Given the description of an element on the screen output the (x, y) to click on. 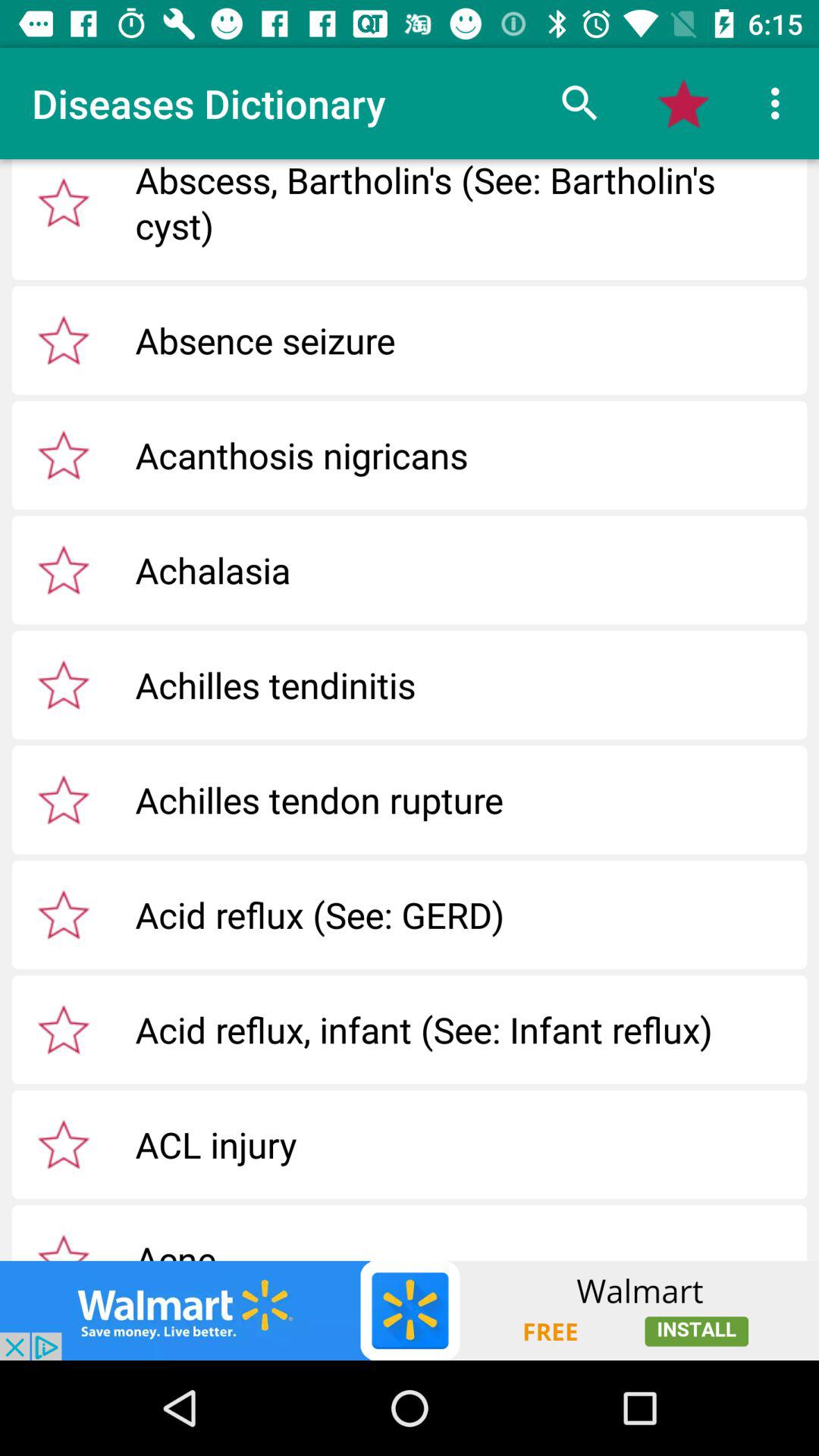
like (63, 1144)
